Given the description of an element on the screen output the (x, y) to click on. 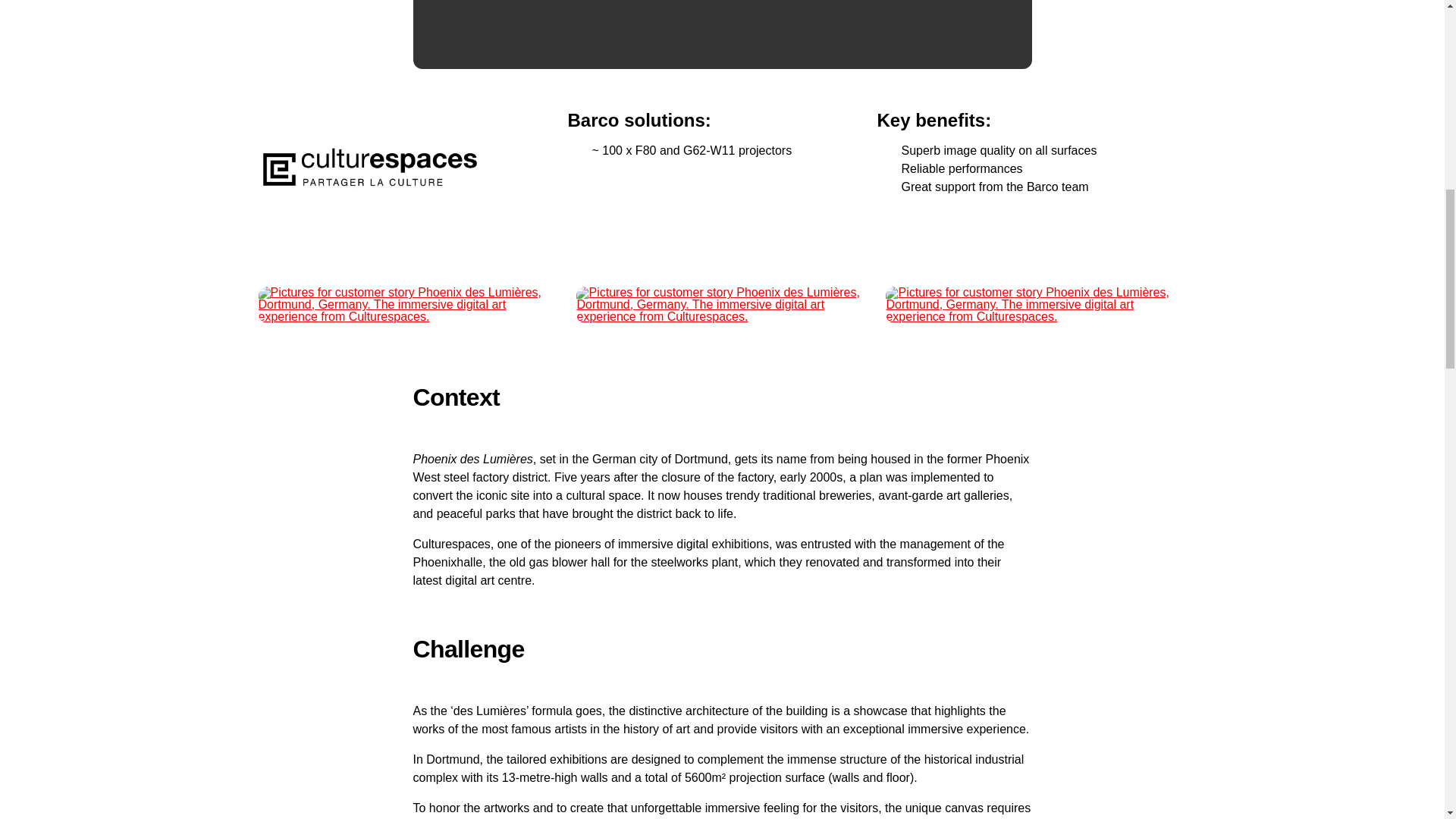
culturespaces-logo-vector (368, 167)
